Given the description of an element on the screen output the (x, y) to click on. 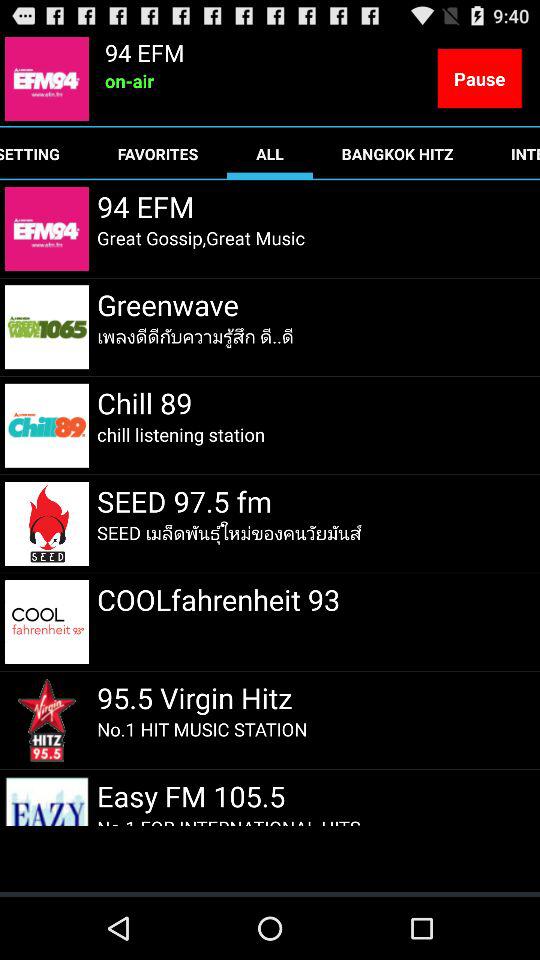
press app below the 94 efm app (201, 237)
